Given the description of an element on the screen output the (x, y) to click on. 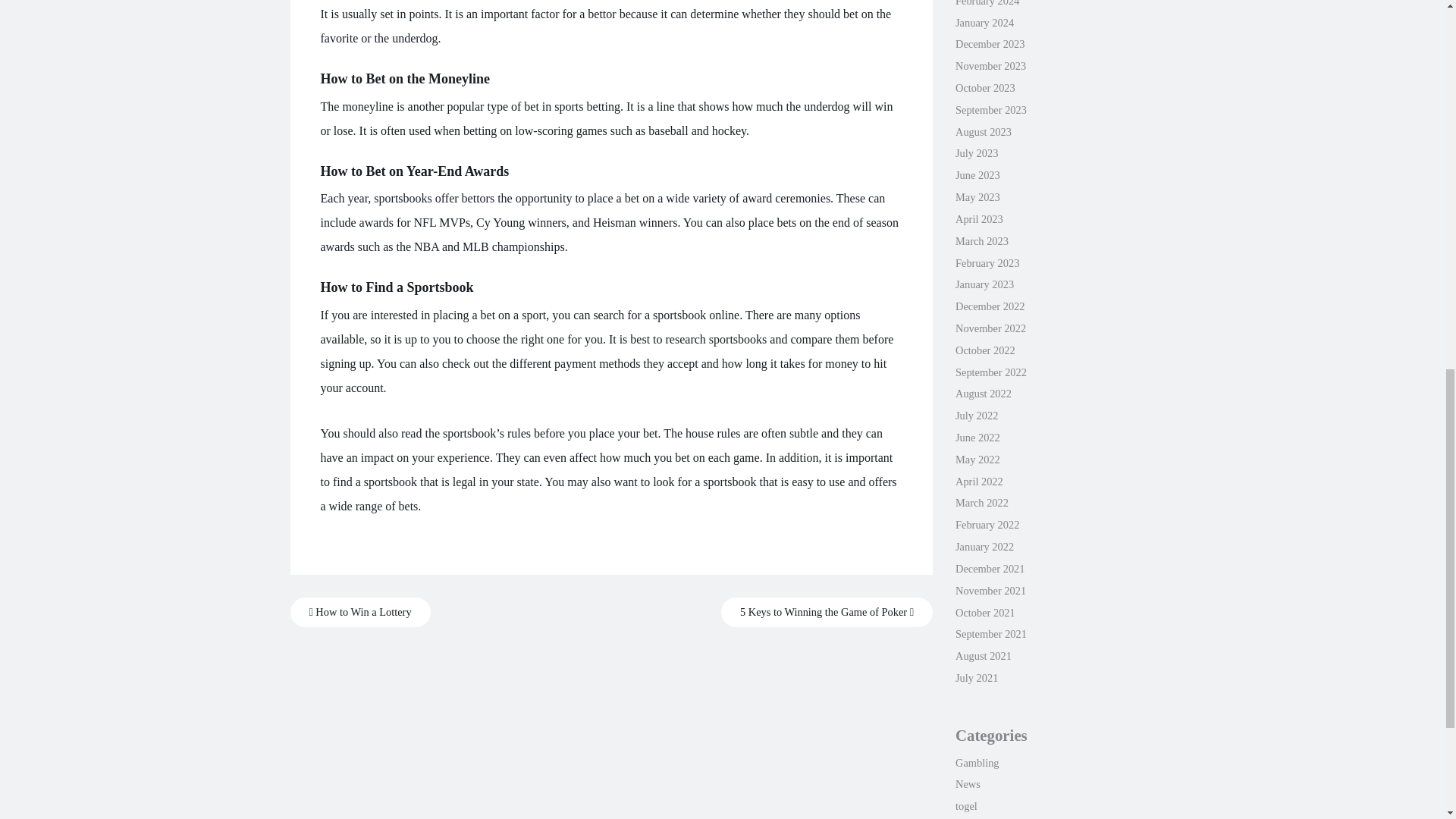
November 2023 (990, 65)
October 2023 (984, 87)
February 2023 (987, 263)
September 2022 (990, 372)
August 2022 (983, 393)
May 2023 (977, 196)
September 2023 (990, 110)
How to Win a Lottery (359, 612)
January 2023 (984, 284)
June 2023 (977, 174)
